Given the description of an element on the screen output the (x, y) to click on. 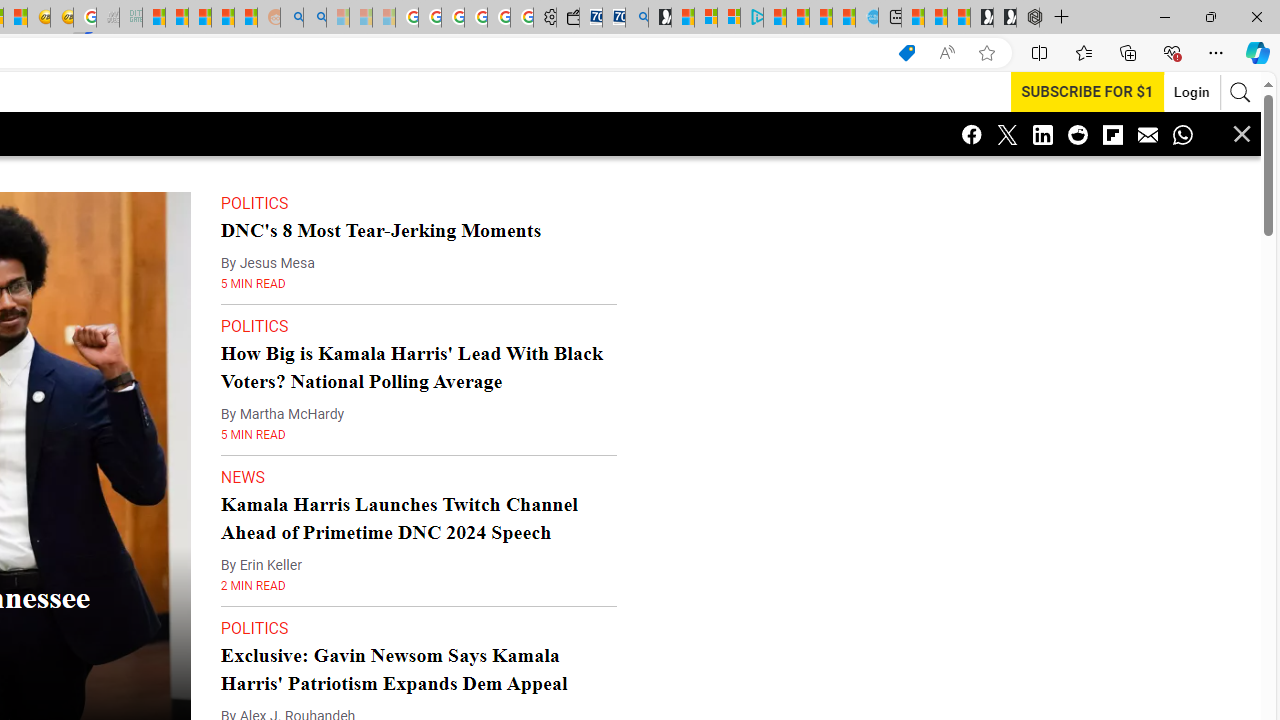
By Jesus Mesa (267, 263)
Bing Real Estate - Home sales and rental listings (636, 17)
Class: icon-twitter (1007, 133)
